Given the description of an element on the screen output the (x, y) to click on. 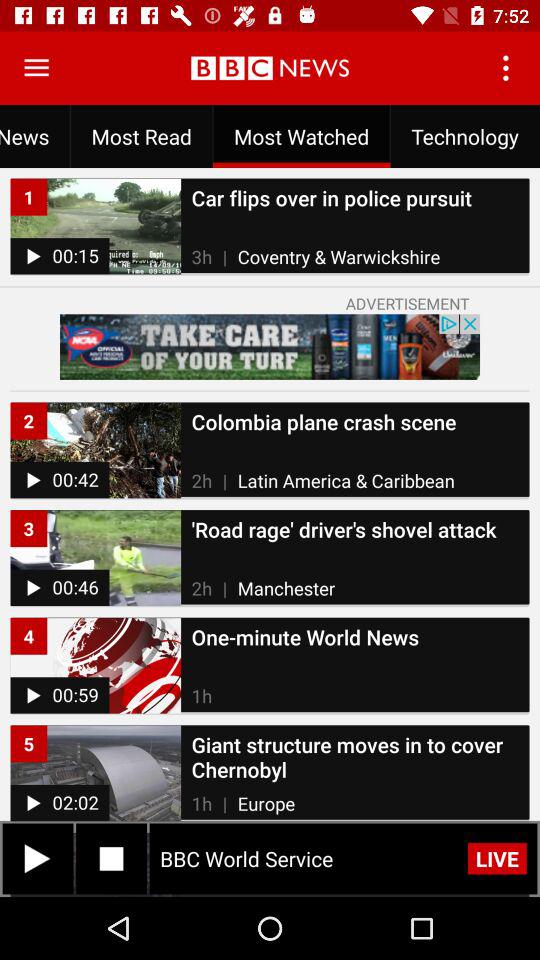
show the website menu (36, 68)
